Given the description of an element on the screen output the (x, y) to click on. 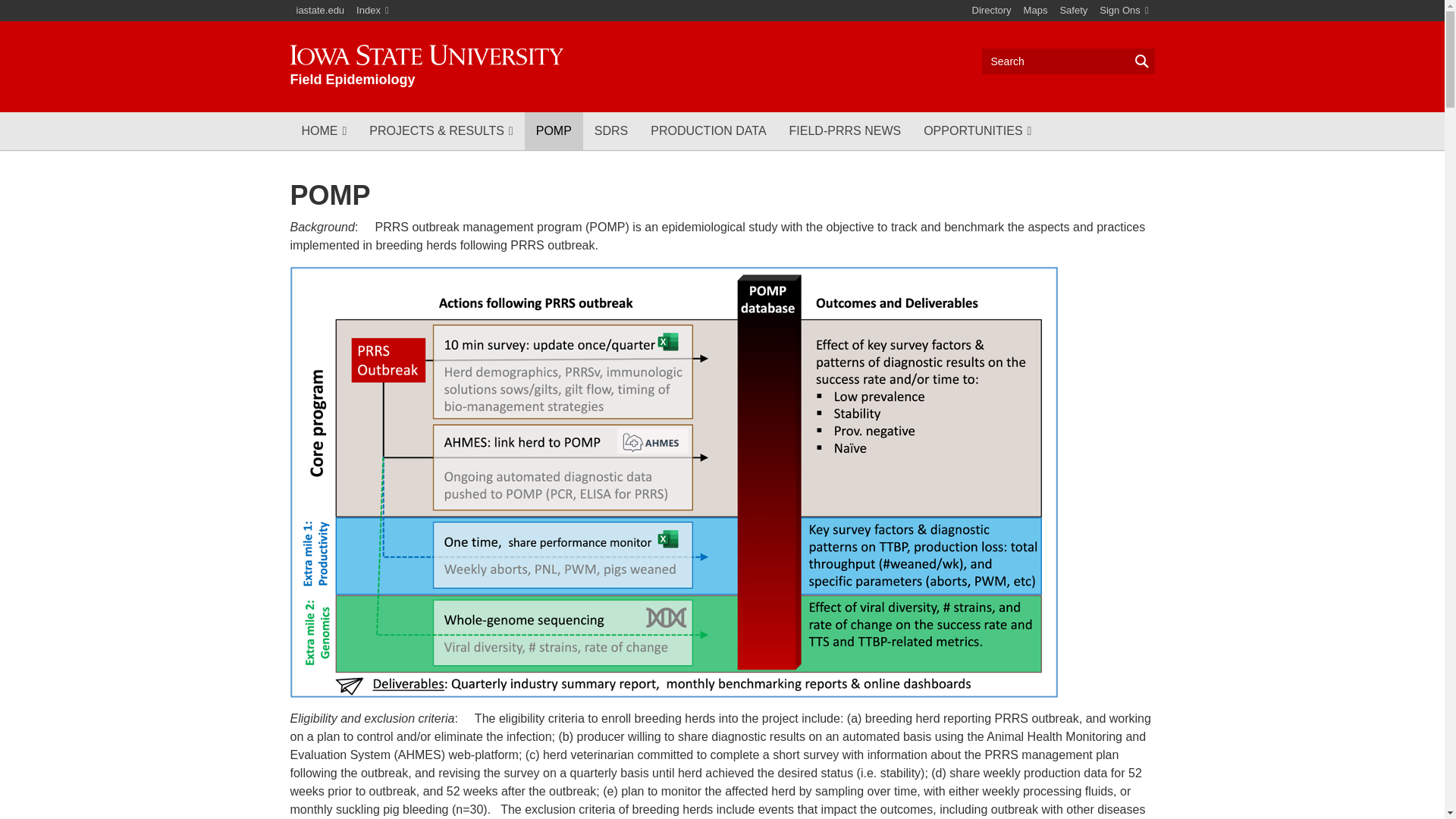
iastate.edu (319, 10)
Maps (1035, 10)
Index (372, 10)
Directory (991, 10)
Search (1067, 61)
Safety (1072, 10)
Sign Ons (1123, 10)
Home (425, 66)
